Given the description of an element on the screen output the (x, y) to click on. 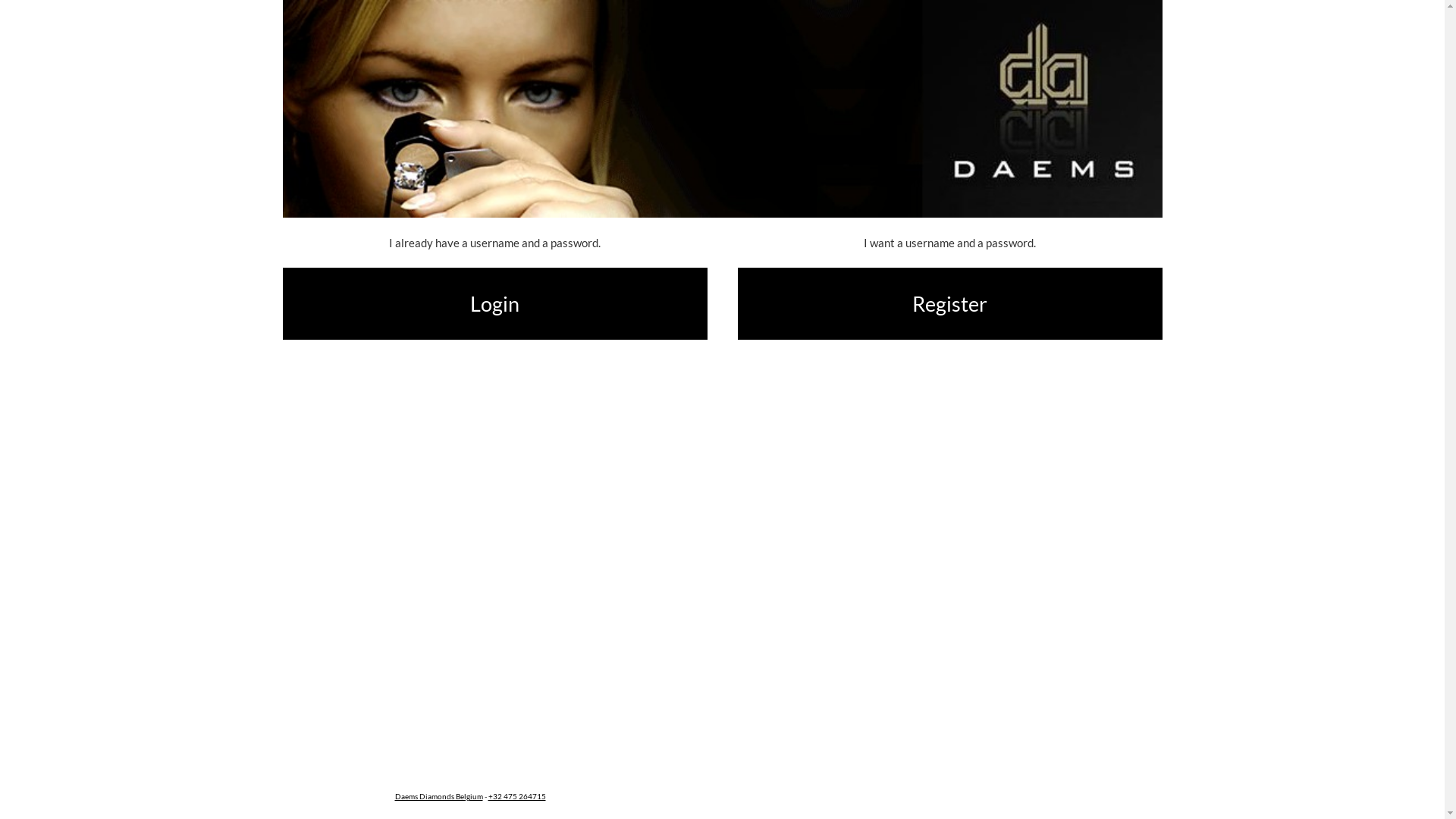
+32 475 264715 Element type: text (517, 795)
Register Element type: text (949, 303)
Daems Diamonds Belgium Element type: text (438, 795)
Send Element type: text (49, 10)
Login Element type: text (494, 303)
